Given the description of an element on the screen output the (x, y) to click on. 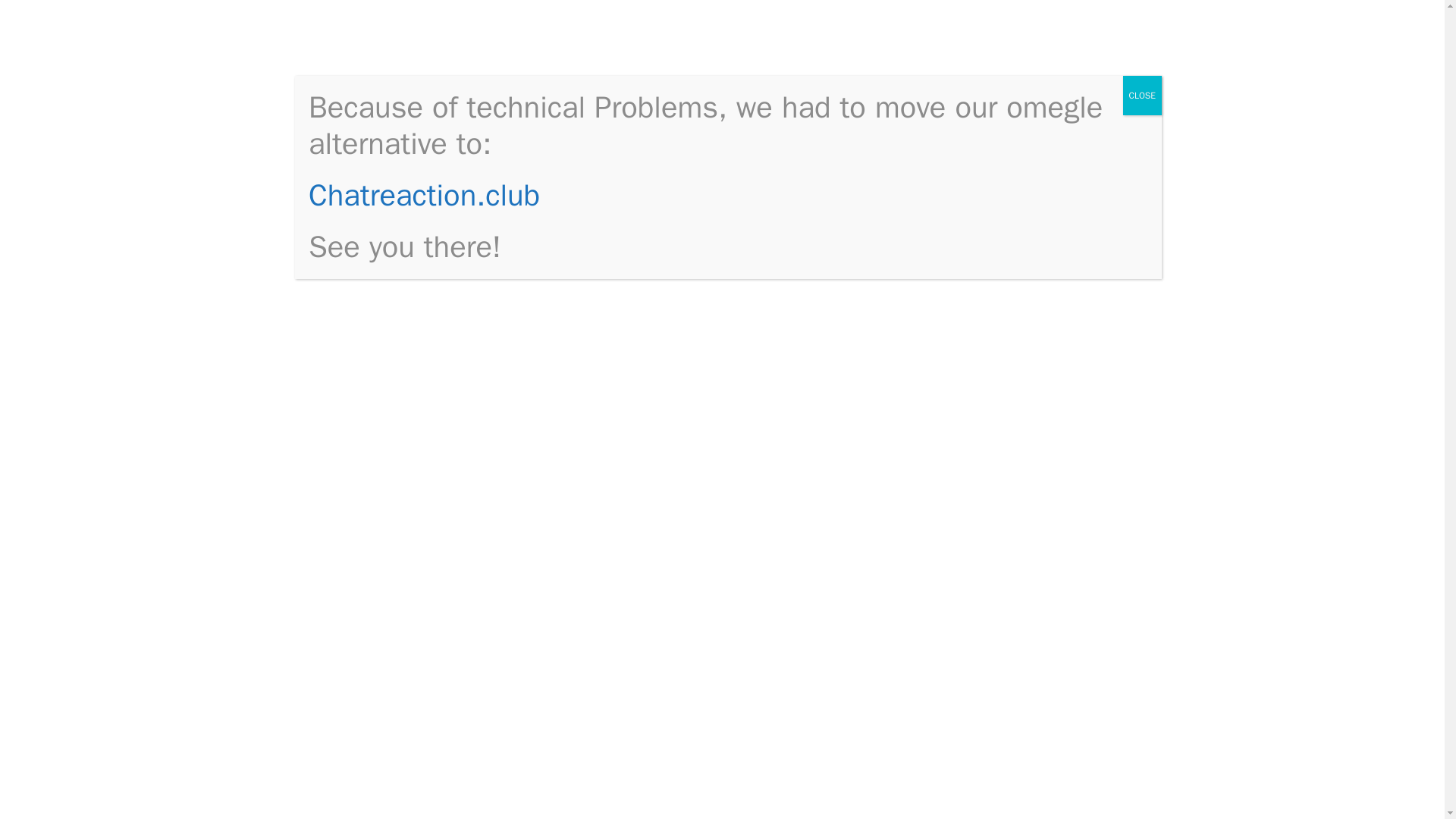
18 nude chatroulette (1020, 521)
Lesbian chat sights (1015, 218)
Chatreaction.club (424, 195)
23.05.2010 (364, 213)
22:05 (364, 213)
Free live phone sex chat (1028, 284)
Ruletka video chat (1012, 567)
coolest webcams (433, 50)
Chat rooms with profiles (1029, 544)
CLOSE (1141, 95)
Free cam4cam (387, 735)
Alternative video chat (1020, 498)
Chatroulette big cocks (1023, 330)
flyer (811, 295)
